Given the description of an element on the screen output the (x, y) to click on. 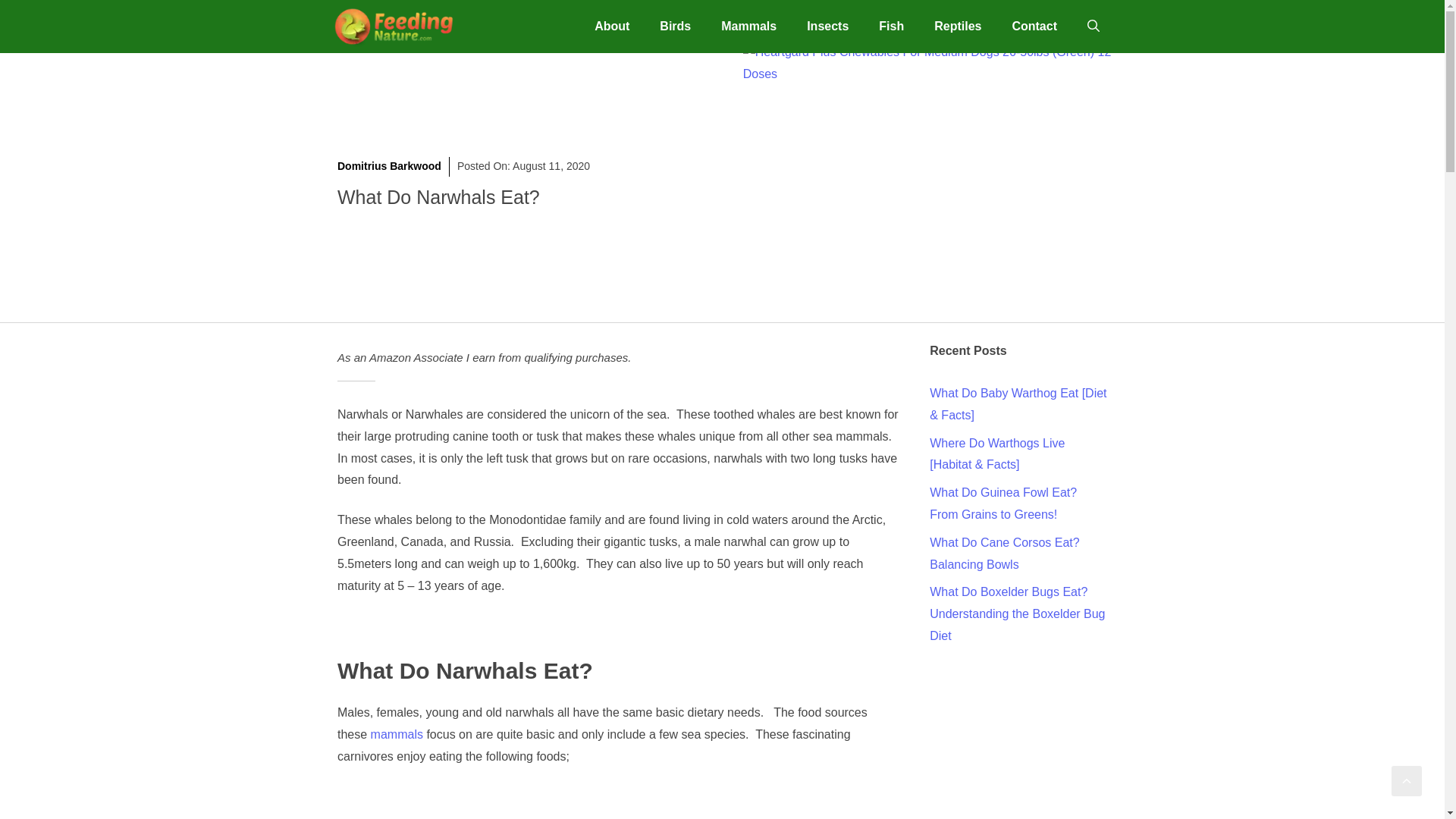
Contact (1033, 26)
Reptiles (956, 26)
Birds (675, 26)
About (612, 26)
Mammals (749, 26)
Fish (890, 26)
mammals (397, 734)
What Do Cane Corsos Eat? Balancing Bowls (1004, 553)
Insects (827, 26)
What Do Guinea Fowl Eat? From Grains to Greens! (1003, 503)
Scroll back to top (1406, 780)
mammals (397, 734)
